Given the description of an element on the screen output the (x, y) to click on. 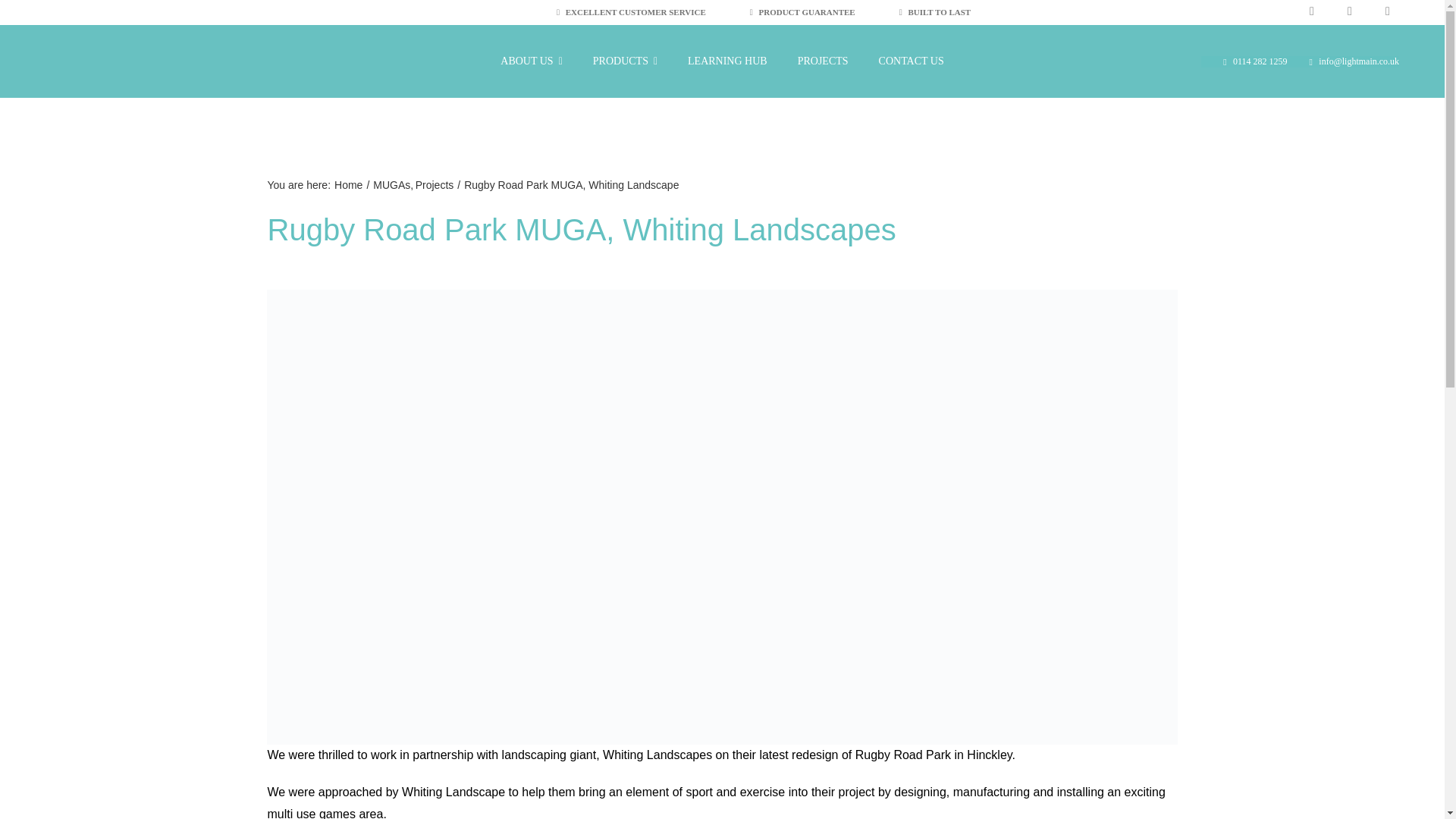
BUILT TO LAST (934, 14)
0114 282 1259 (1244, 61)
EXCELLENT CUSTOMER SERVICE (631, 14)
PRODUCTS (625, 61)
Instagram (1350, 13)
Facebook (1311, 13)
ABOUT US (531, 61)
LinkedIn (1388, 13)
